Given the description of an element on the screen output the (x, y) to click on. 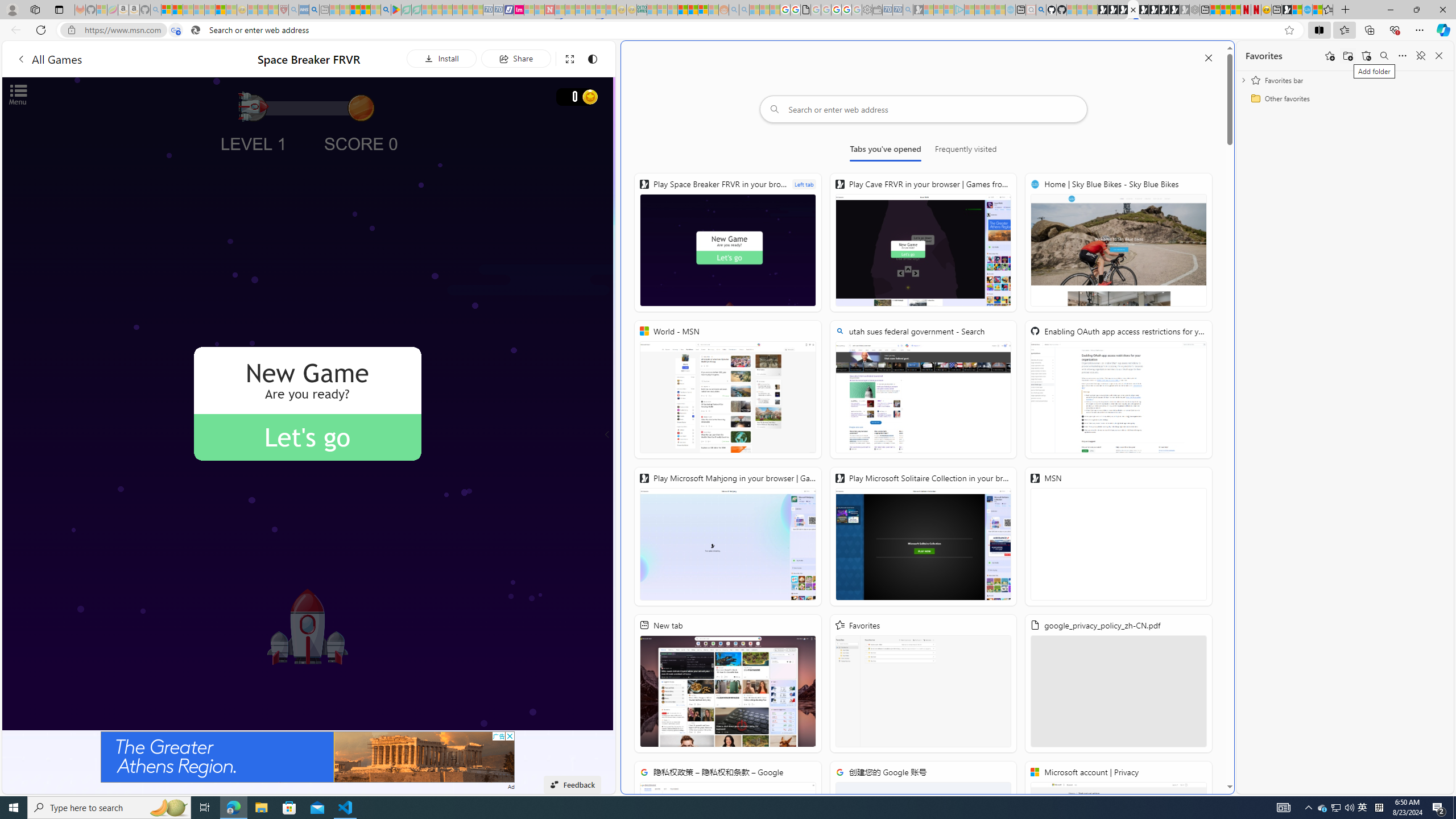
Unpin favorites (1420, 55)
Expert Portfolios (682, 9)
